Given the description of an element on the screen output the (x, y) to click on. 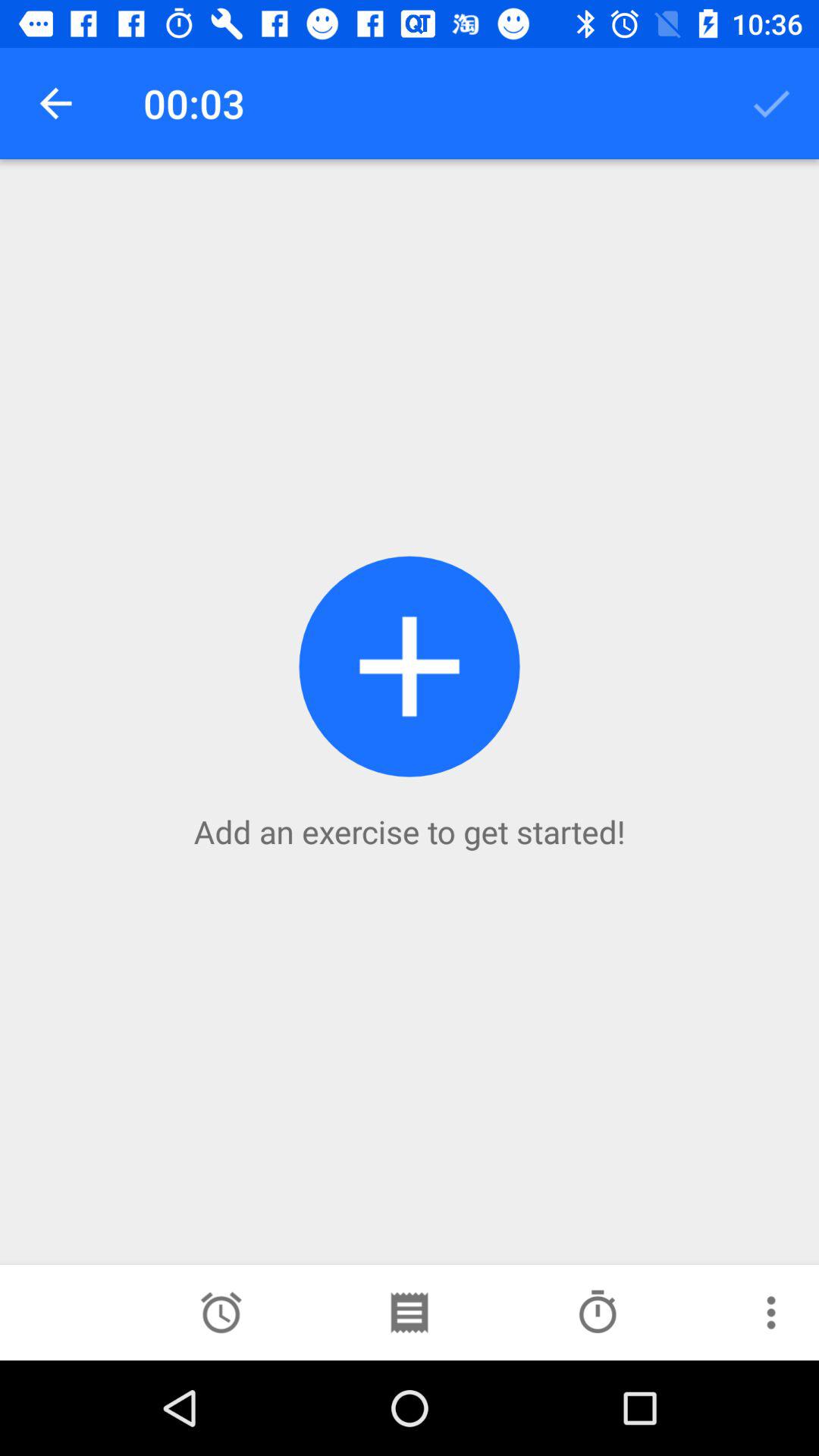
go to opened apps (409, 1312)
